Given the description of an element on the screen output the (x, y) to click on. 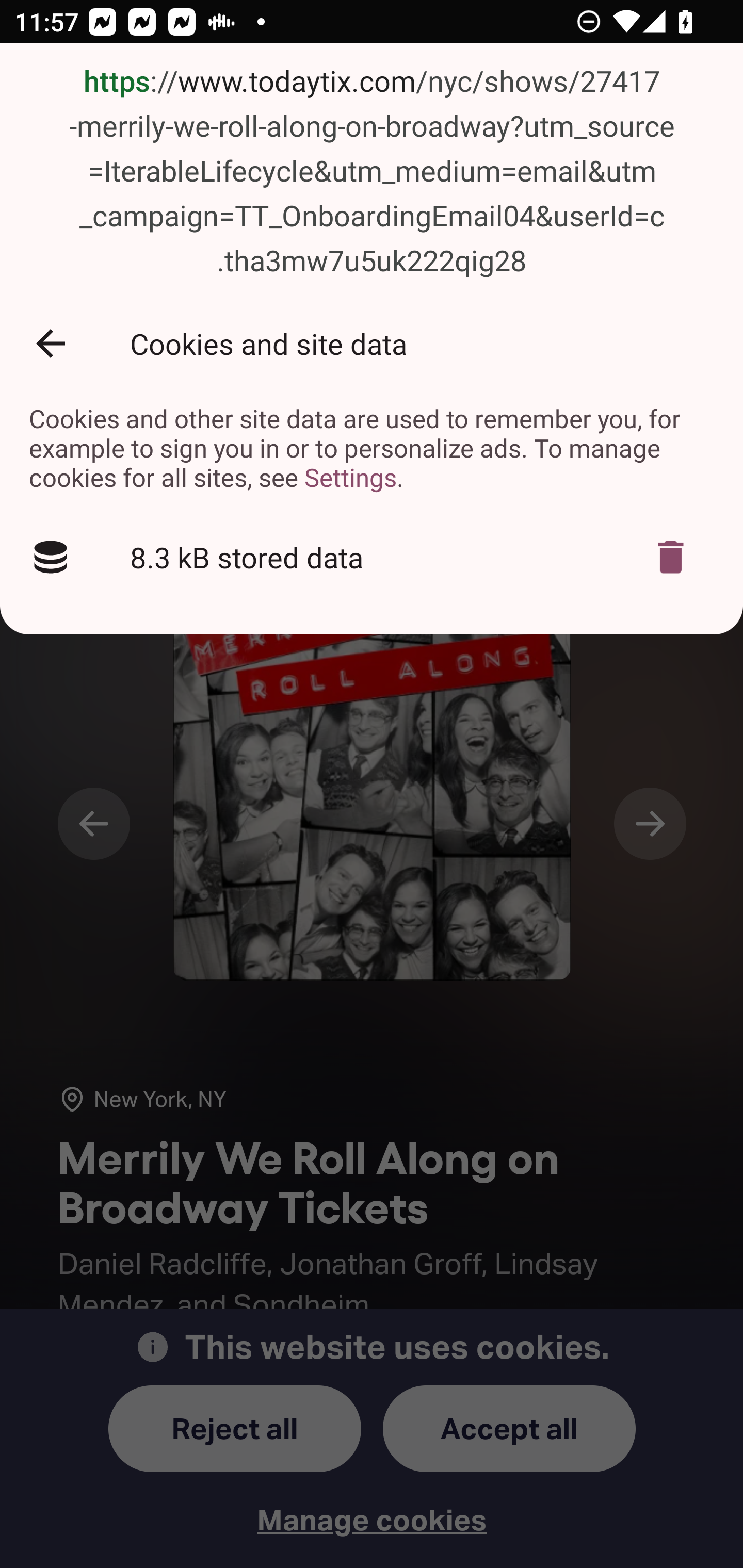
Back (50, 343)
8.3 kB stored data Delete cookies? (371, 556)
